Given the description of an element on the screen output the (x, y) to click on. 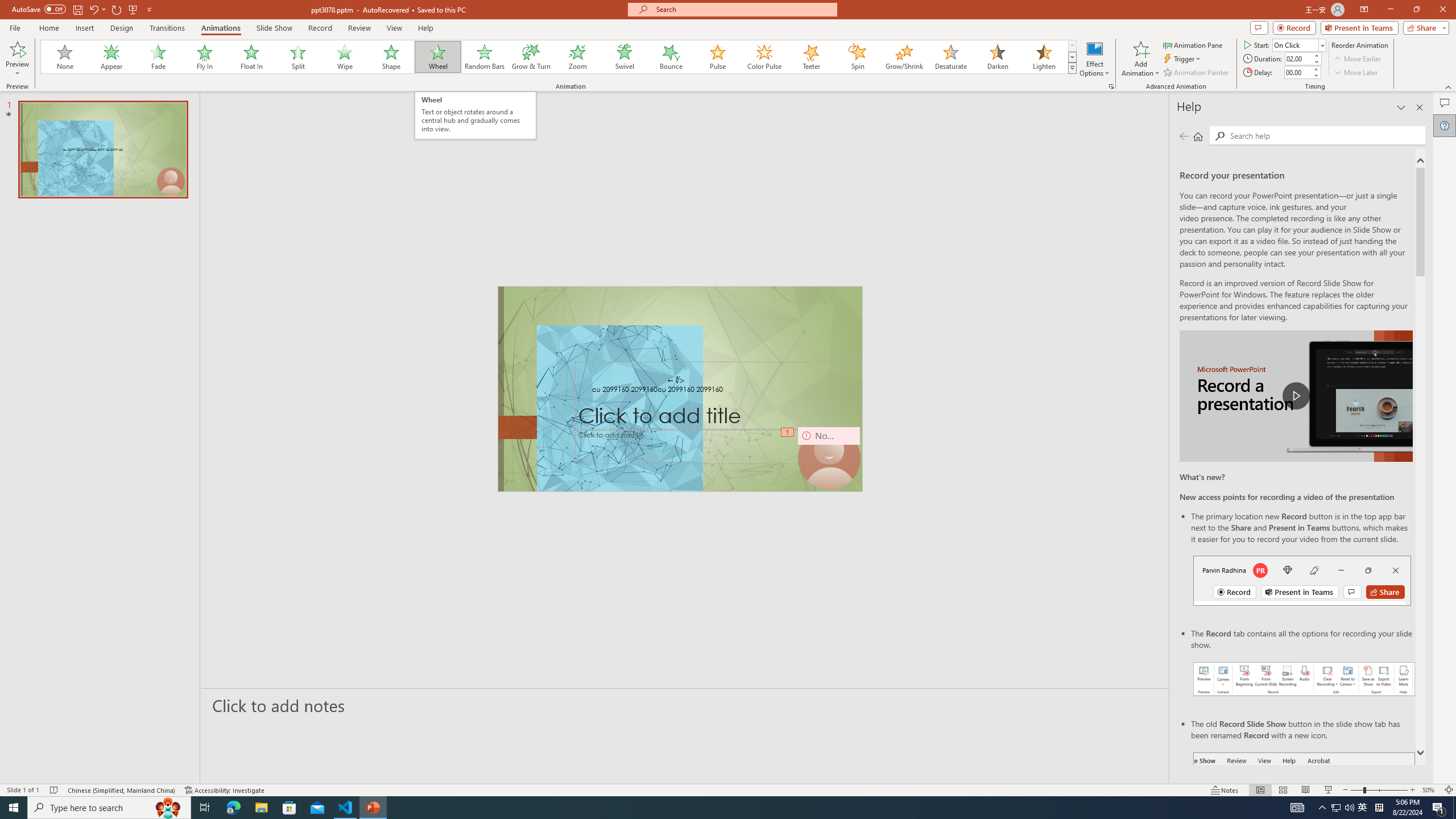
Desaturate (950, 56)
